Given the description of an element on the screen output the (x, y) to click on. 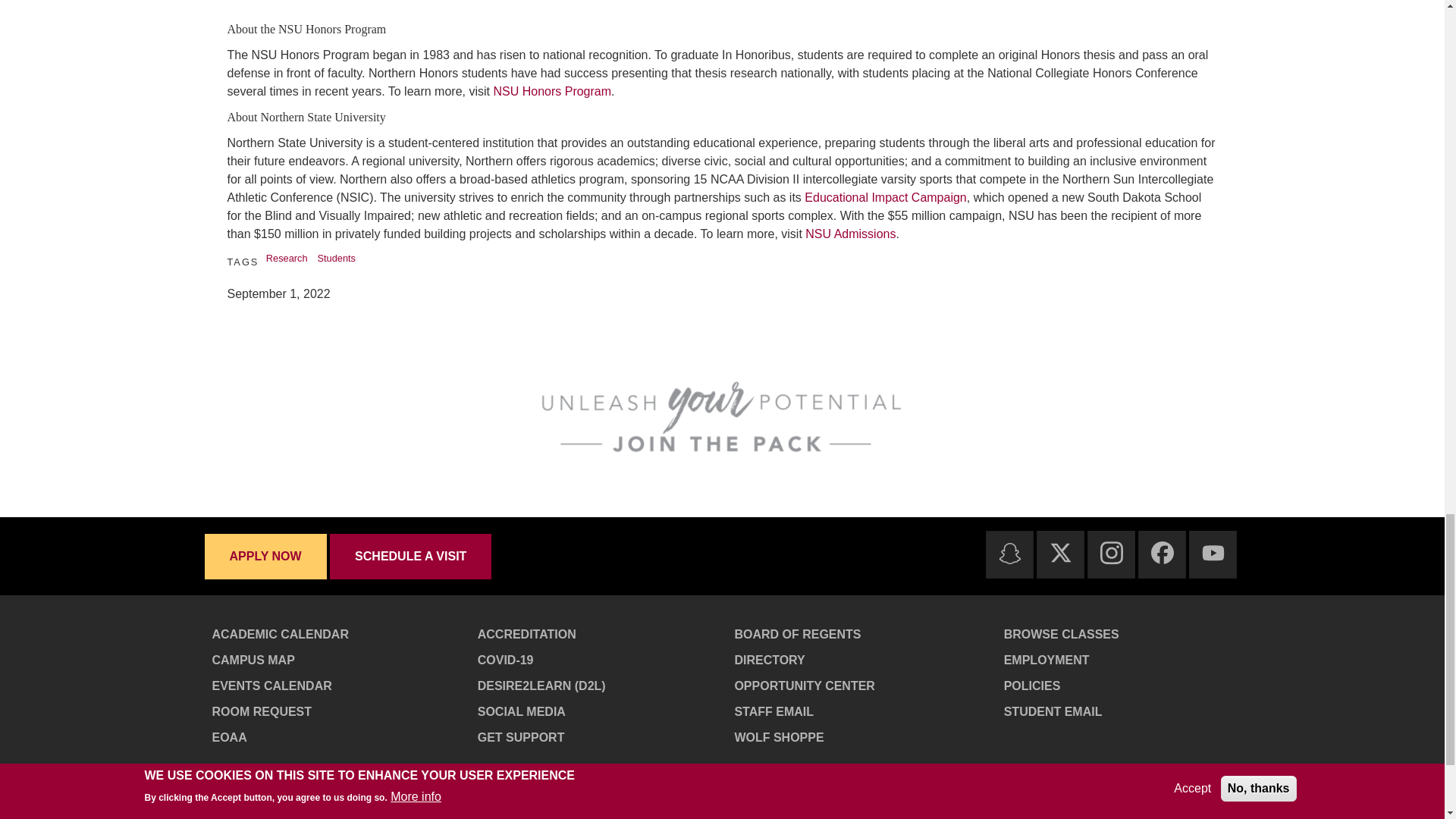
Submit a TeamDynamix support request (598, 737)
Apply (267, 554)
Schedule a Visit (411, 554)
